Given the description of an element on the screen output the (x, y) to click on. 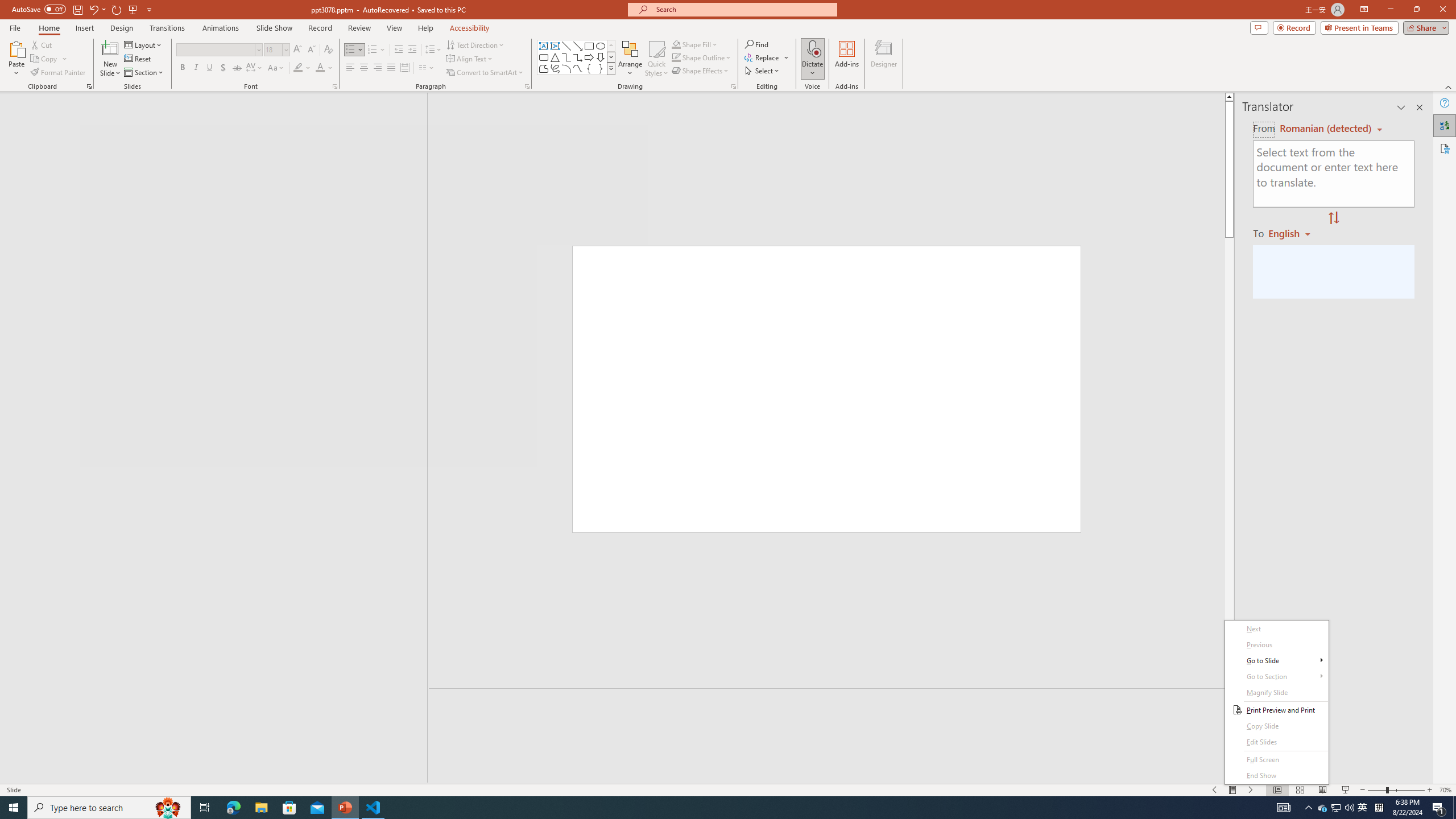
Decrease Indent (398, 49)
Show desktop (1454, 807)
Text Direction (476, 44)
Font Color (324, 67)
Arrow: Right (589, 57)
Bullets (349, 49)
Quick Styles (656, 58)
Arrange (630, 58)
Edit Slides (1276, 742)
Translator (1444, 125)
Text Highlight Color Yellow (297, 67)
Next (1276, 628)
